Given the description of an element on the screen output the (x, y) to click on. 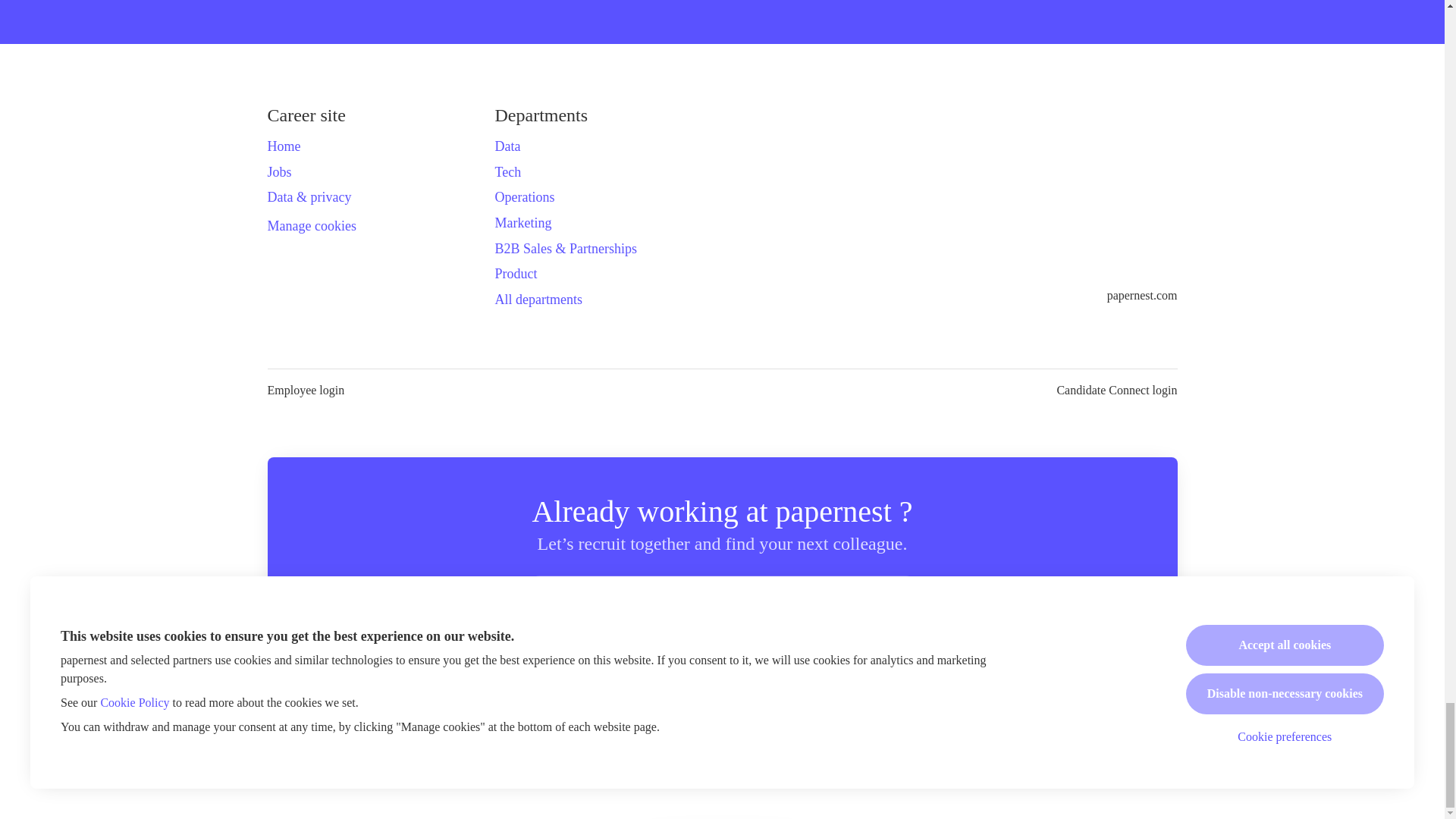
Home (282, 146)
Javier Ferreyra (536, 676)
Marketing (523, 222)
Julien Guiard (834, 676)
Anouk Leysens (982, 676)
luigy (759, 676)
Operations (524, 197)
Tech (508, 171)
Product (516, 273)
Data (507, 146)
